Given the description of an element on the screen output the (x, y) to click on. 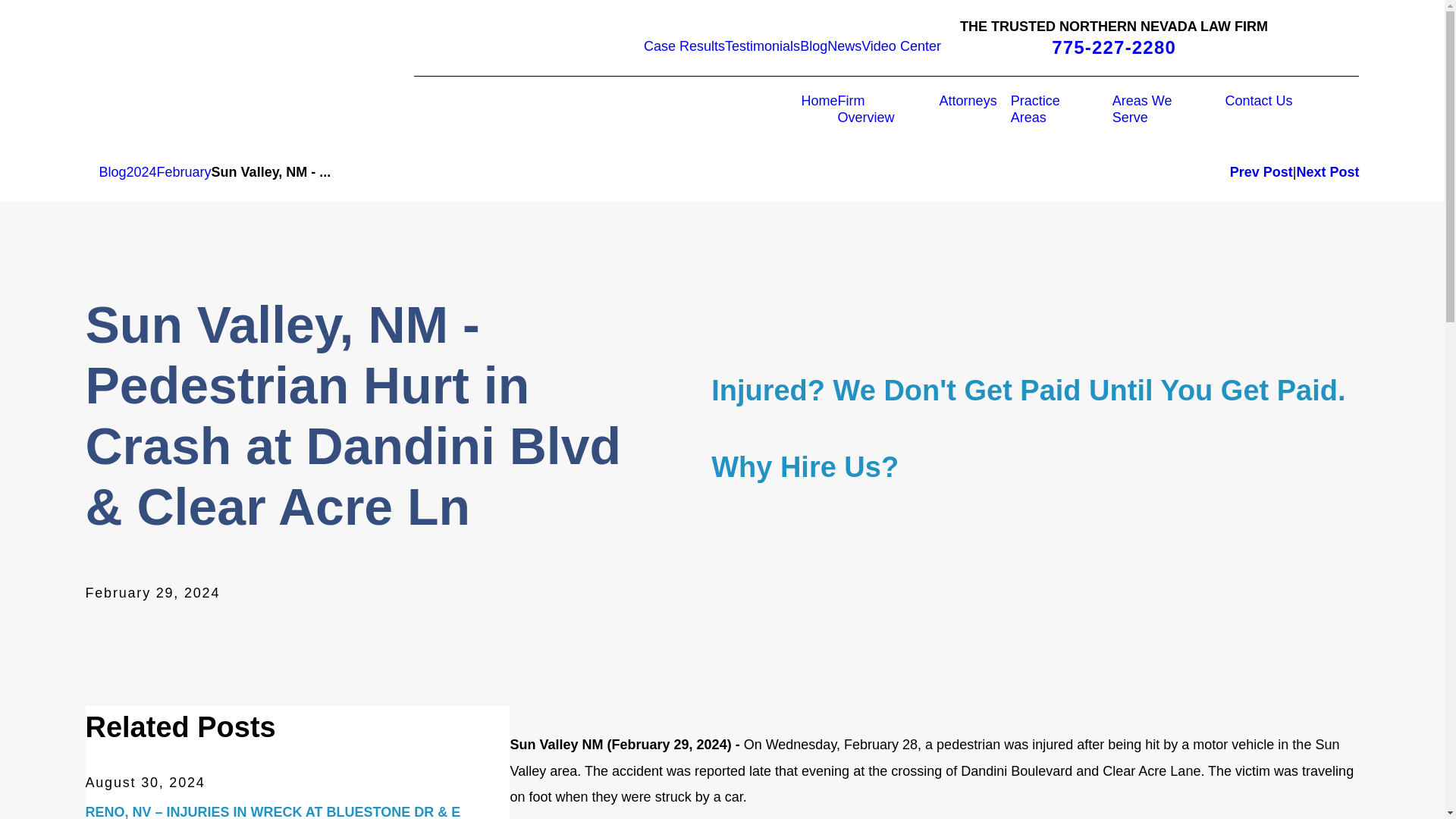
News (844, 46)
Firm Overview (878, 109)
Close the Menu (794, 110)
Case Results (684, 46)
Search Our Site (780, 110)
Practice Areas (1051, 109)
Video Center (900, 46)
Open the accessibility options menu (1423, 798)
Go Home (91, 172)
Blog (813, 46)
